Given the description of an element on the screen output the (x, y) to click on. 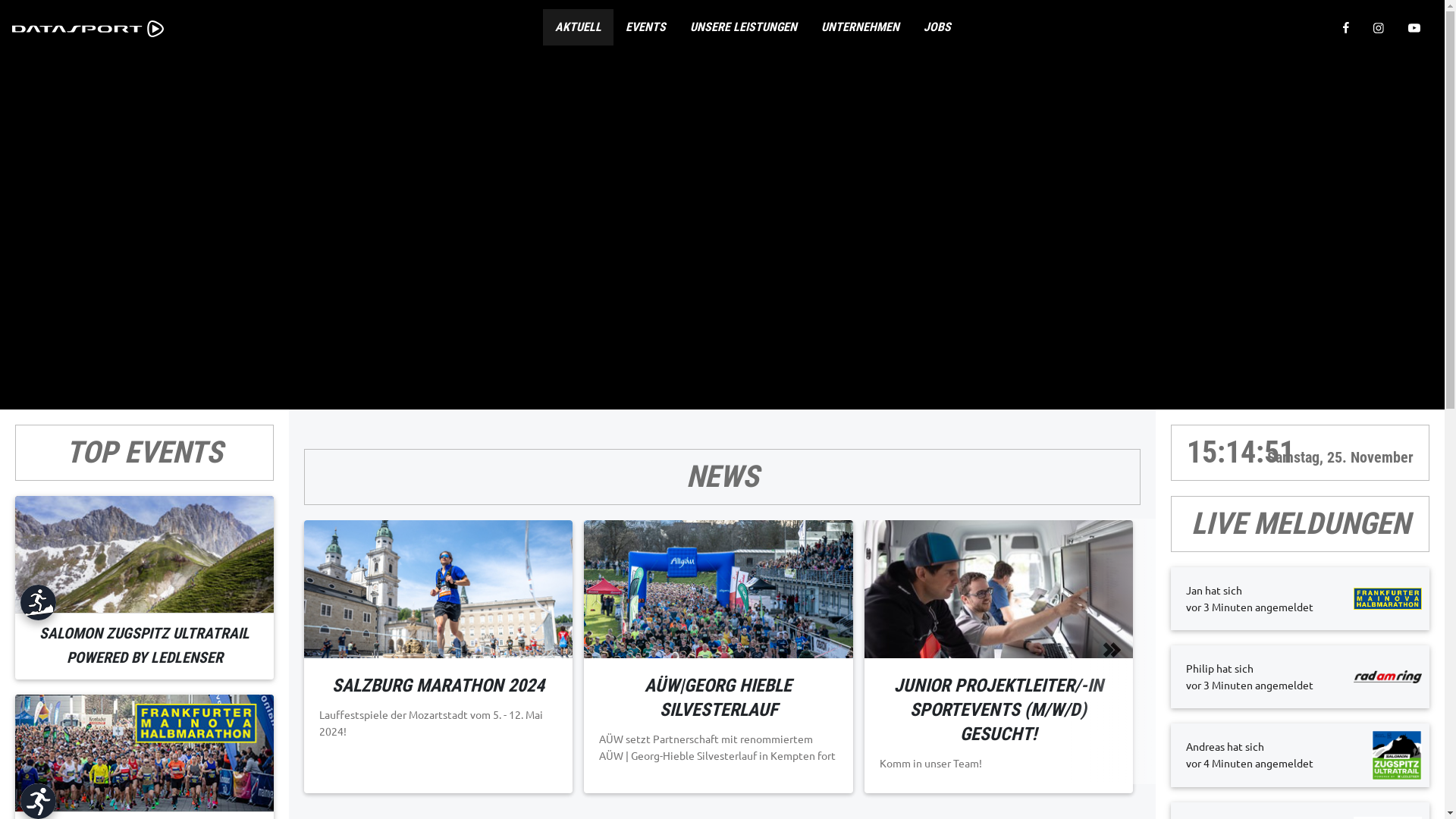
Jan hat sich
vor 2 Minuten angemeldet Element type: text (1299, 598)
Philip hat sich
vor 3 Minuten angemeldet Element type: text (1299, 676)
UNSERE LEISTUNGEN Element type: text (743, 27)
UNTERNEHMEN Element type: text (860, 27)
Andreas hat sich
vor 4 Minuten angemeldet Element type: text (1299, 754)
EVENTS Element type: text (645, 27)
AKTUELL Element type: text (577, 27)
JOBS Element type: text (937, 27)
SALOMON ZUGSPITZ ULTRATRAIL POWERED BY LEDLENSER Element type: text (144, 646)
